Given the description of an element on the screen output the (x, y) to click on. 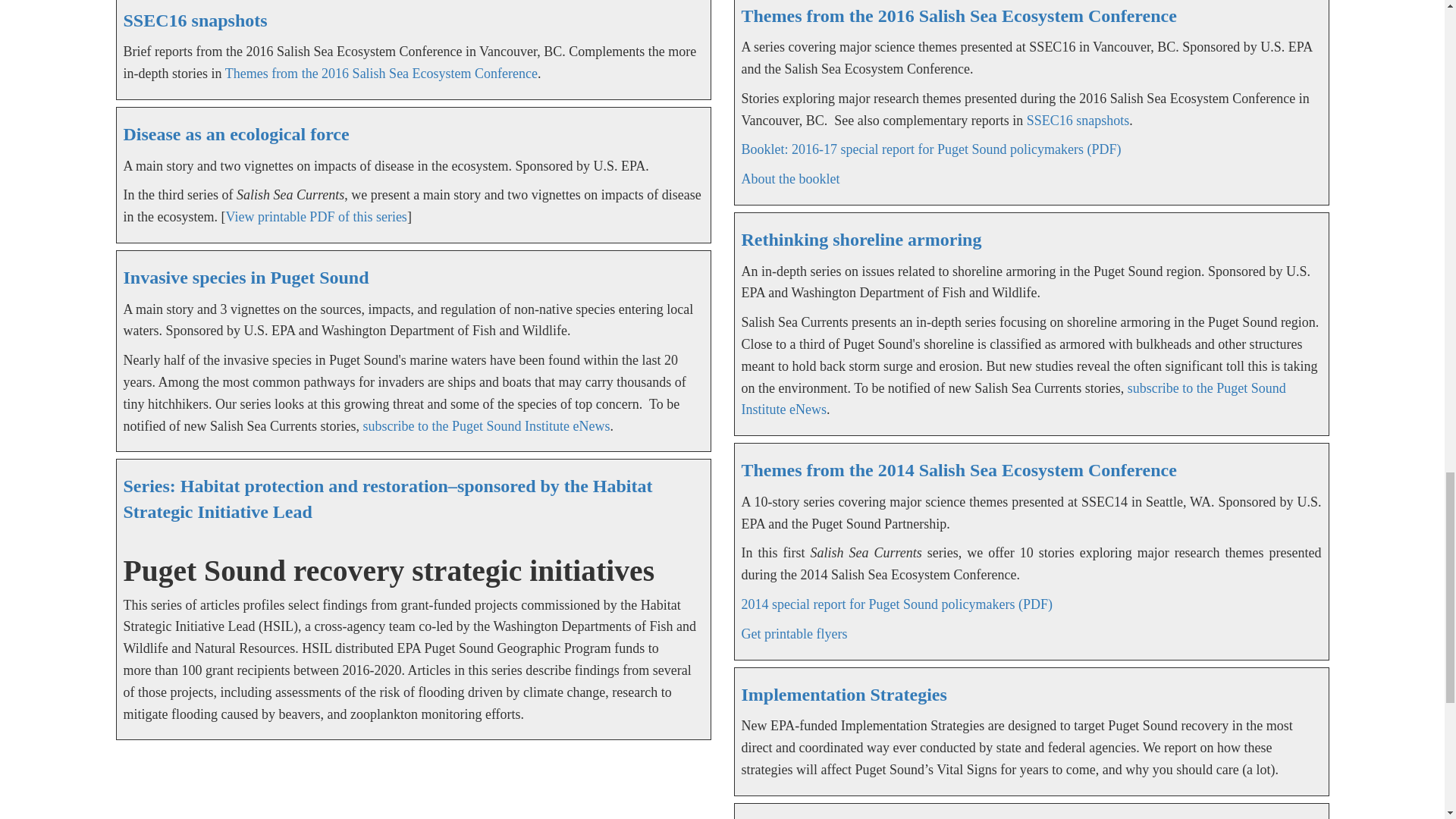
SSEC16 snapshots (194, 20)
Themes from the 2016 Salish Sea Ecosystem Conference (381, 73)
Disease as an ecological force (235, 134)
